Given the description of an element on the screen output the (x, y) to click on. 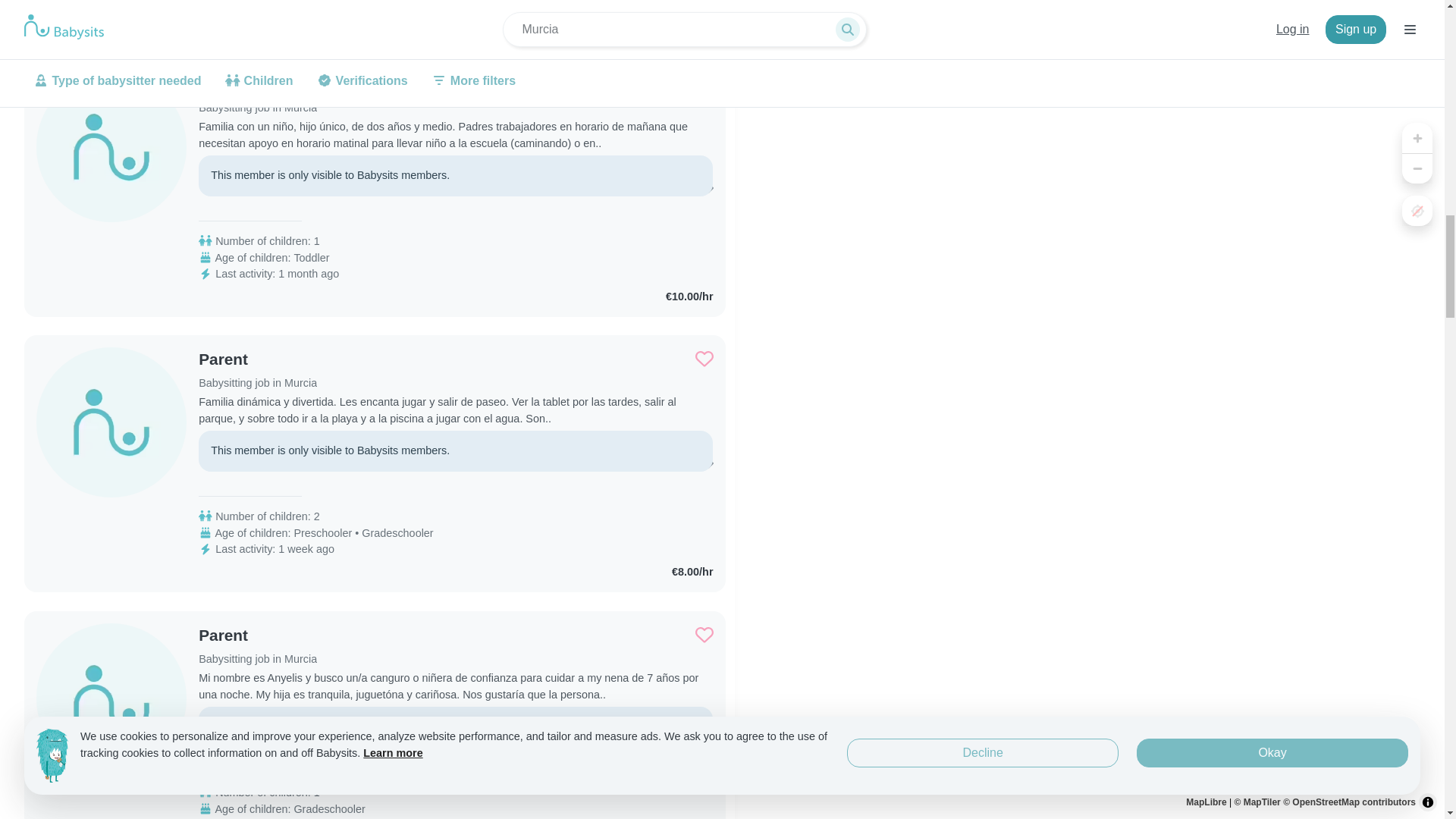
Profile parent Parent - Murcia (257, 635)
Profile parent Parent - Murcia (257, 359)
Profile parent Parent - Murcia (257, 84)
